Given the description of an element on the screen output the (x, y) to click on. 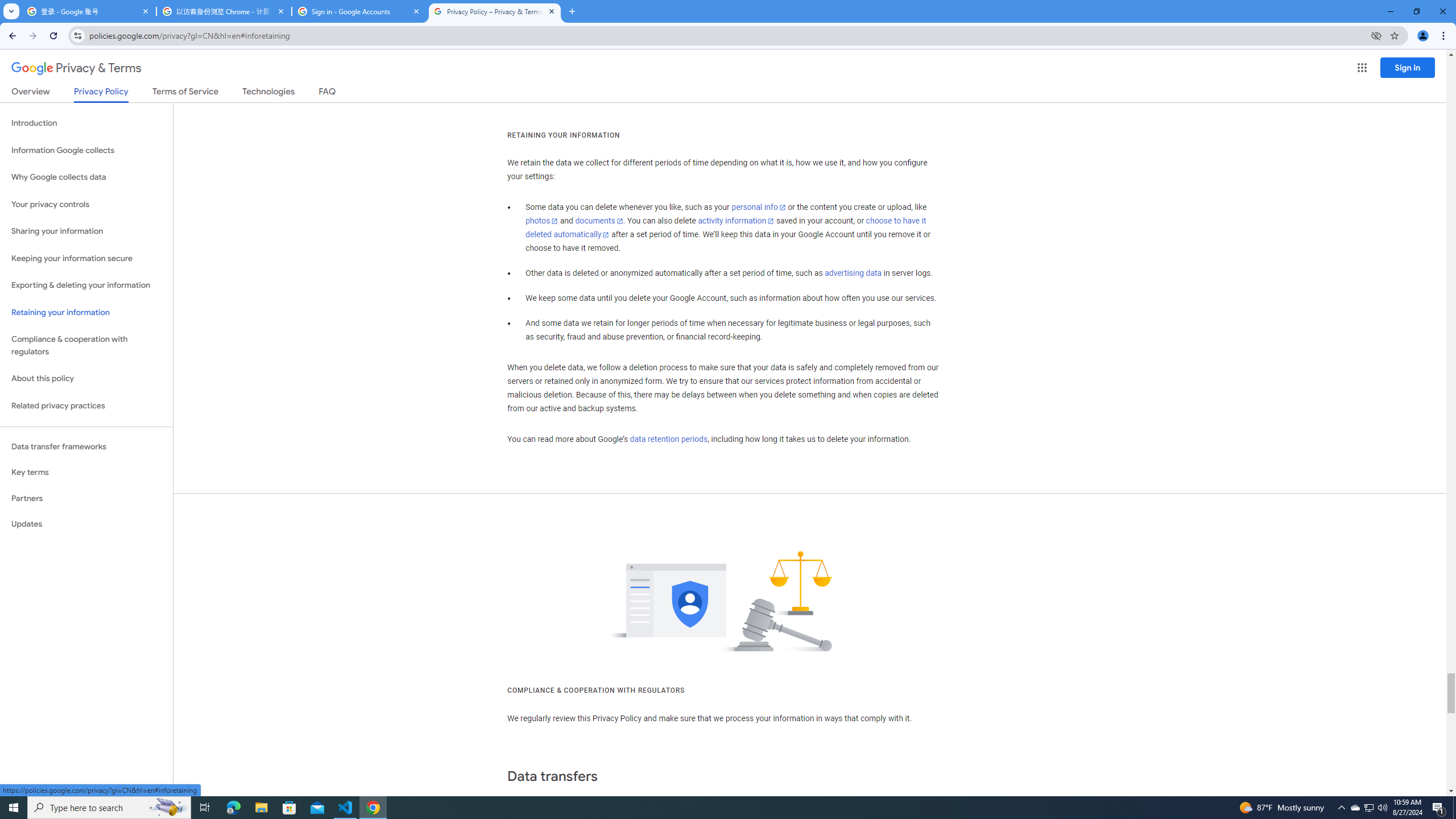
Data transfer frameworks (86, 446)
Sign in - Google Accounts (359, 11)
About this policy (86, 379)
Your privacy controls (86, 204)
Why Google collects data (86, 176)
Overview (30, 93)
Information Google collects (86, 150)
choose to have it deleted automatically (725, 227)
